Given the description of an element on the screen output the (x, y) to click on. 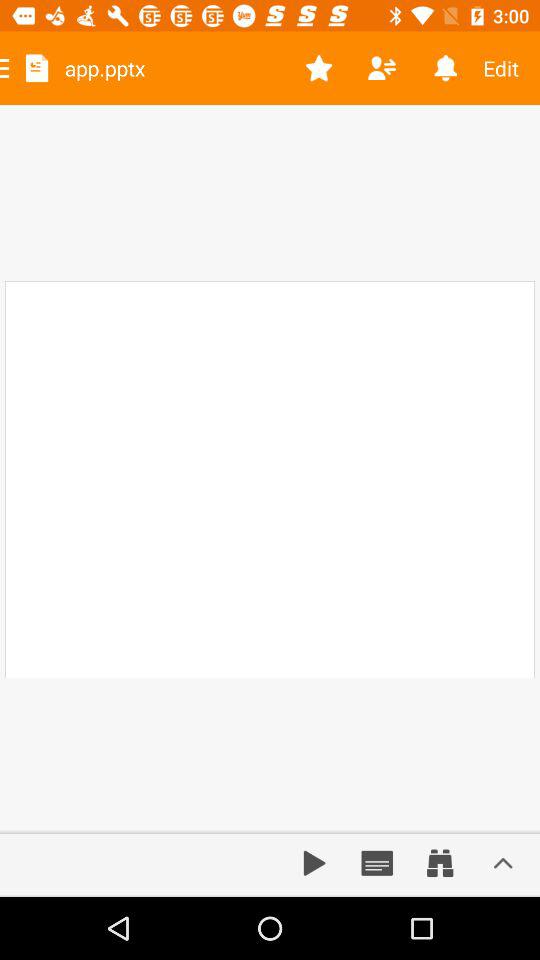
turn off the item next to the edit item (444, 68)
